Given the description of an element on the screen output the (x, y) to click on. 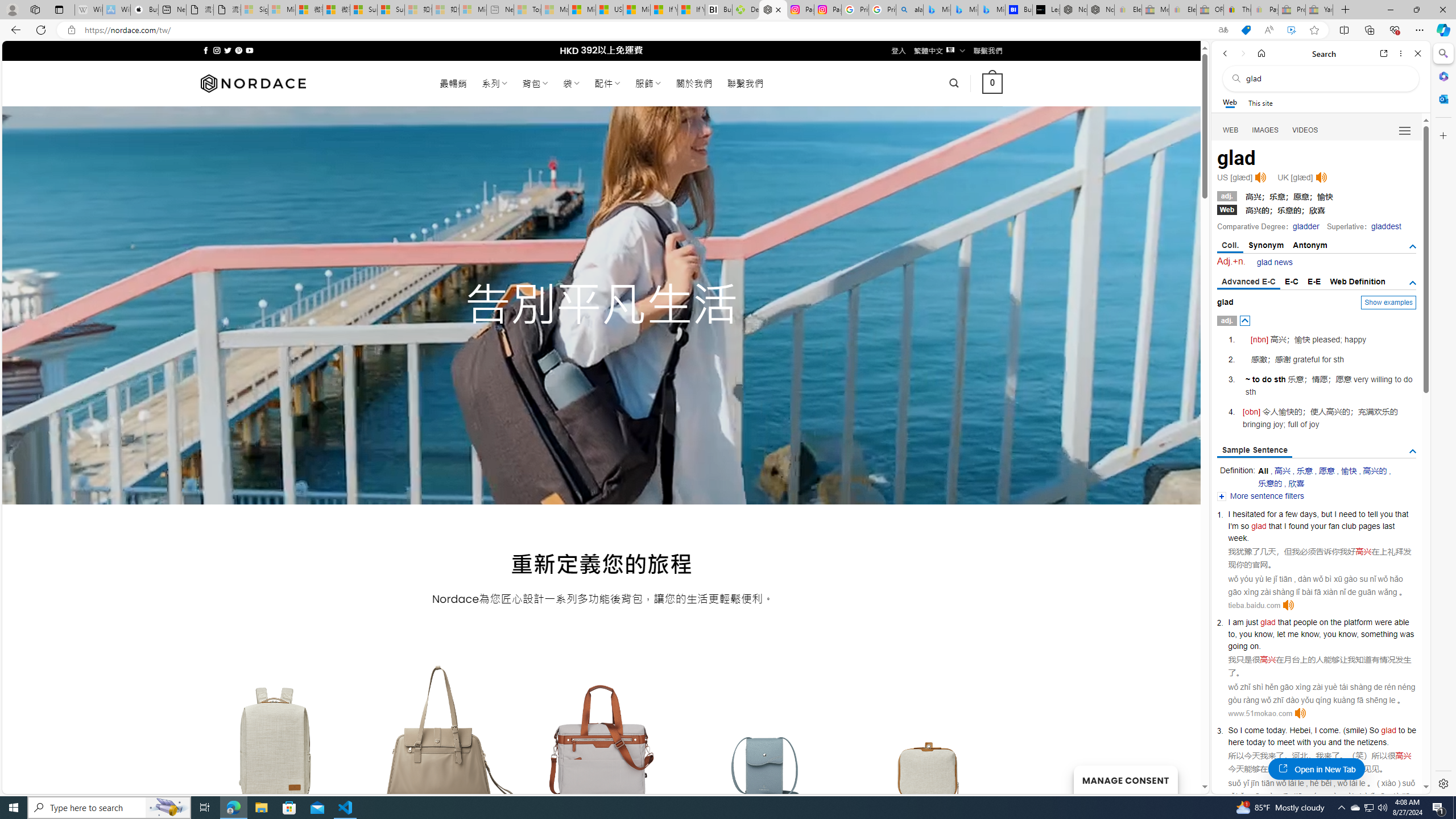
Copilot (Ctrl+Shift+.) (1442, 29)
meet (1285, 741)
Click to listen (1300, 713)
Add this page to favorites (Ctrl+D) (1314, 29)
New Tab (1346, 9)
Hebei (1300, 729)
today (1256, 741)
Coll. (1230, 246)
Top Stories - MSN - Sleeping (527, 9)
